Given the description of an element on the screen output the (x, y) to click on. 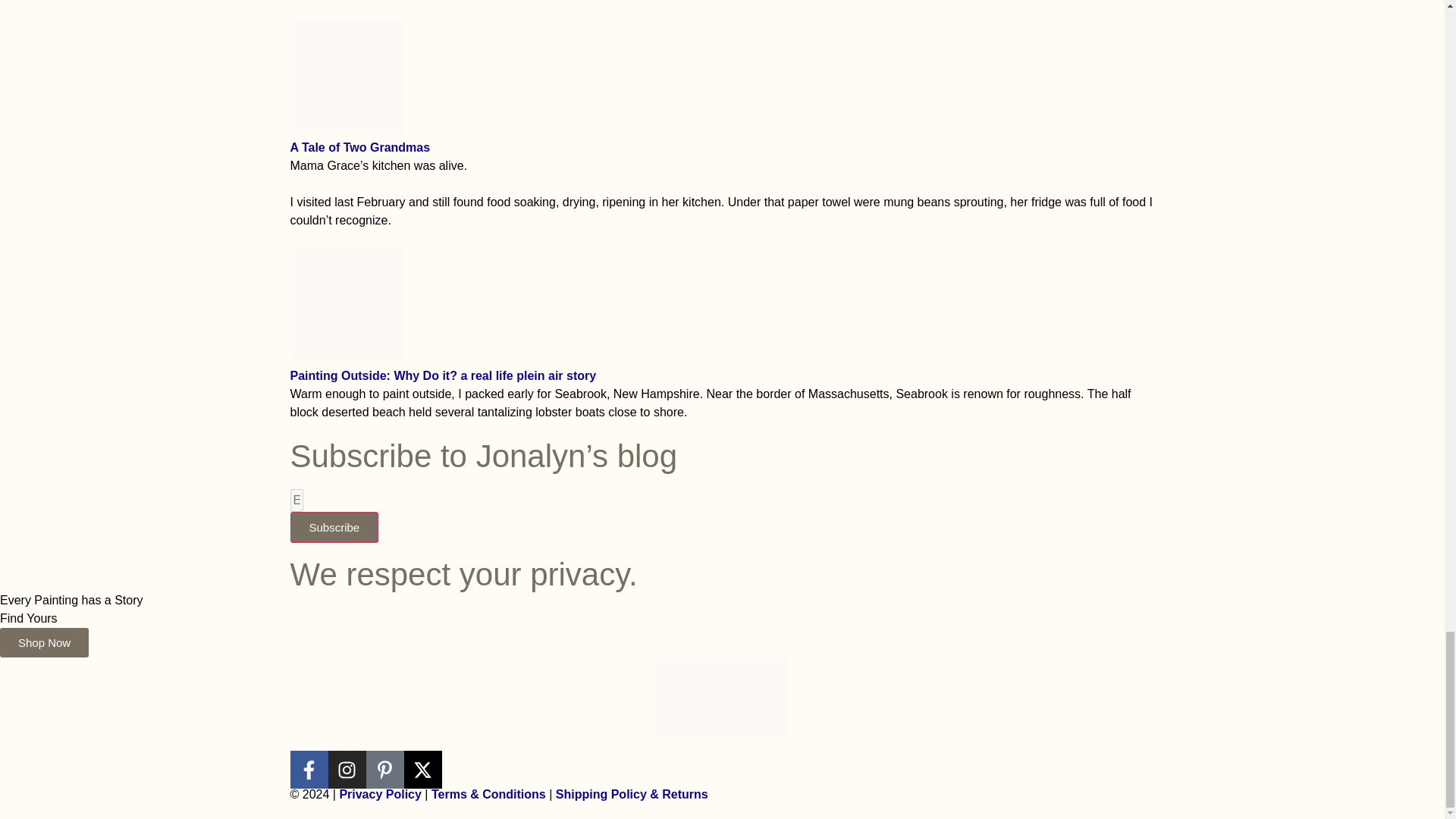
A Tale of Two Grandmas (346, 128)
Painting Outside: Why Do it? a real life plein air story (346, 357)
